Given the description of an element on the screen output the (x, y) to click on. 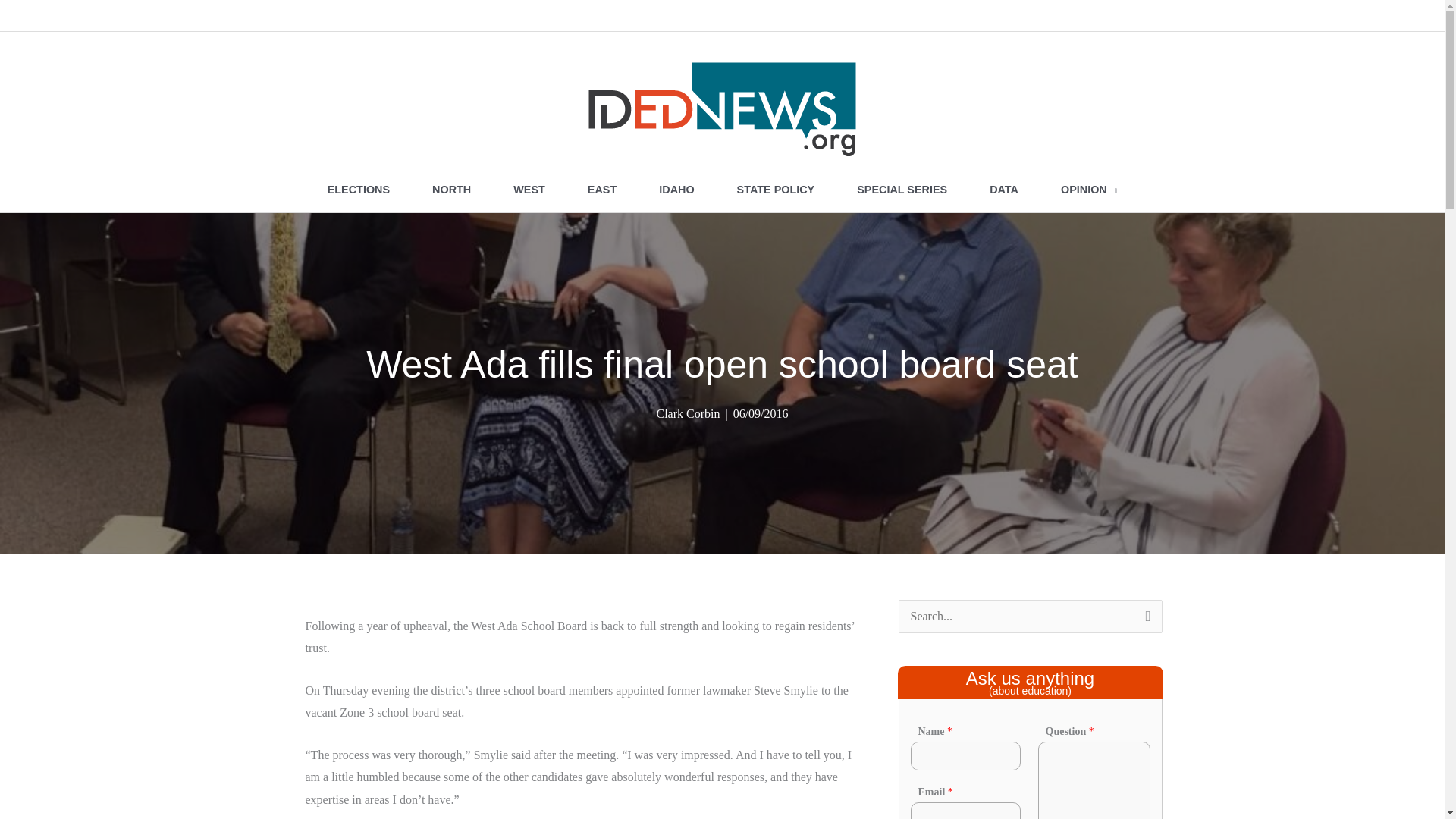
IDAHO (675, 190)
EAST (601, 190)
NORTH (451, 190)
OPINION (1088, 190)
DATA (1003, 190)
Clark Corbin (687, 413)
STATE POLICY (775, 190)
ELECTIONS (357, 190)
WEST (529, 190)
SPECIAL SERIES (901, 190)
